Given the description of an element on the screen output the (x, y) to click on. 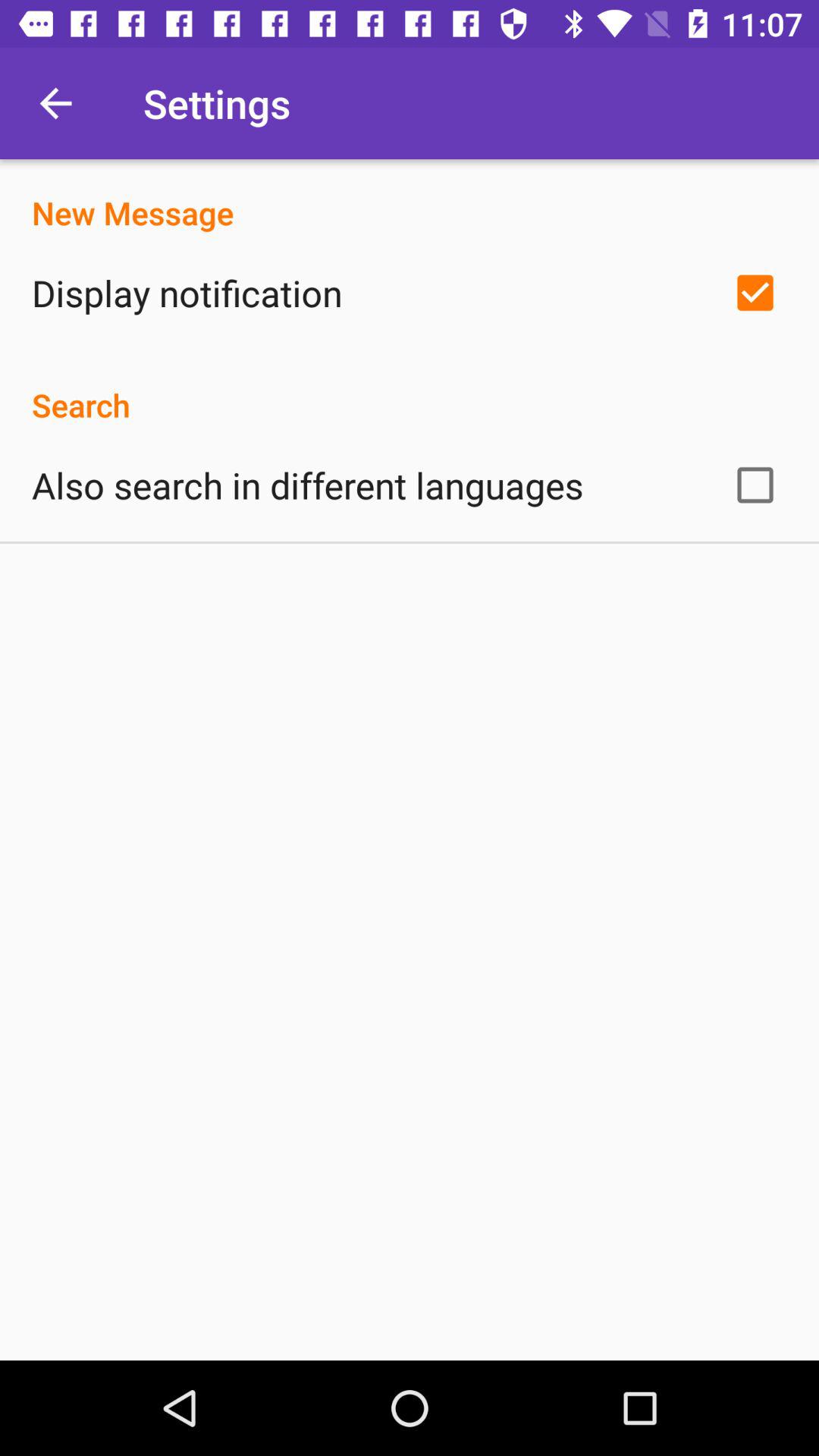
select the also search in icon (307, 484)
